Given the description of an element on the screen output the (x, y) to click on. 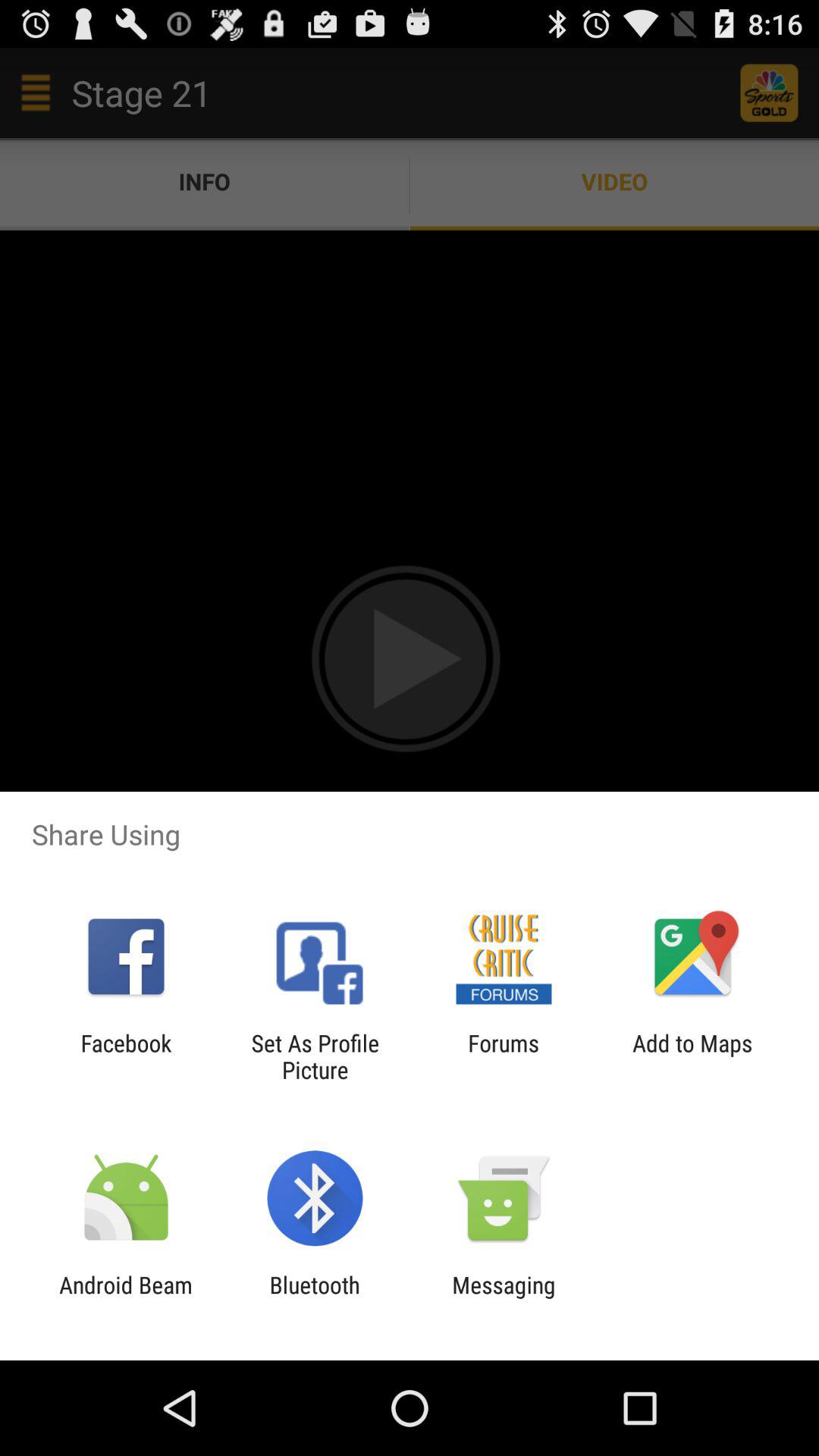
tap the item next to the set as profile (503, 1056)
